Given the description of an element on the screen output the (x, y) to click on. 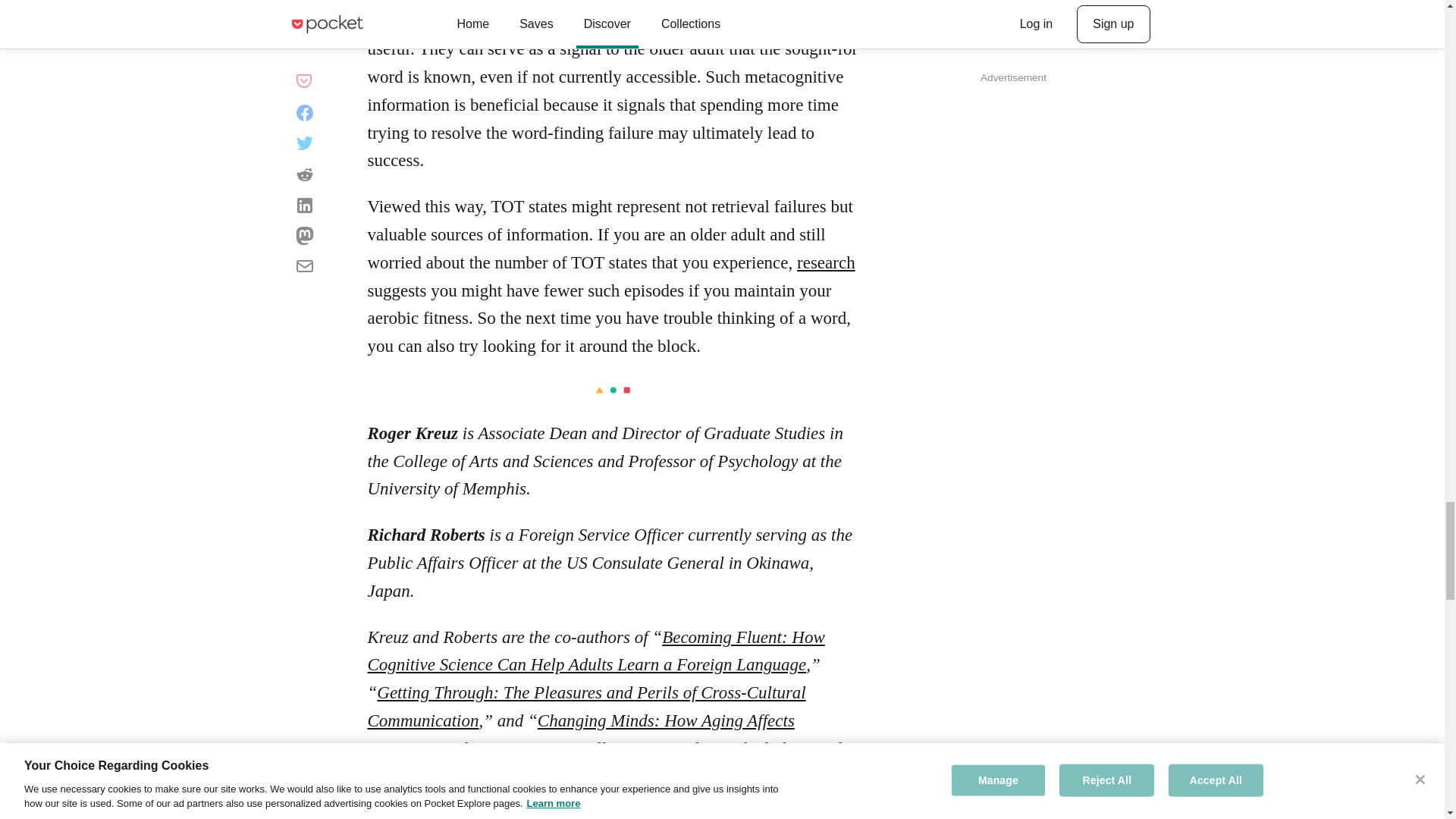
research (826, 262)
